Given the description of an element on the screen output the (x, y) to click on. 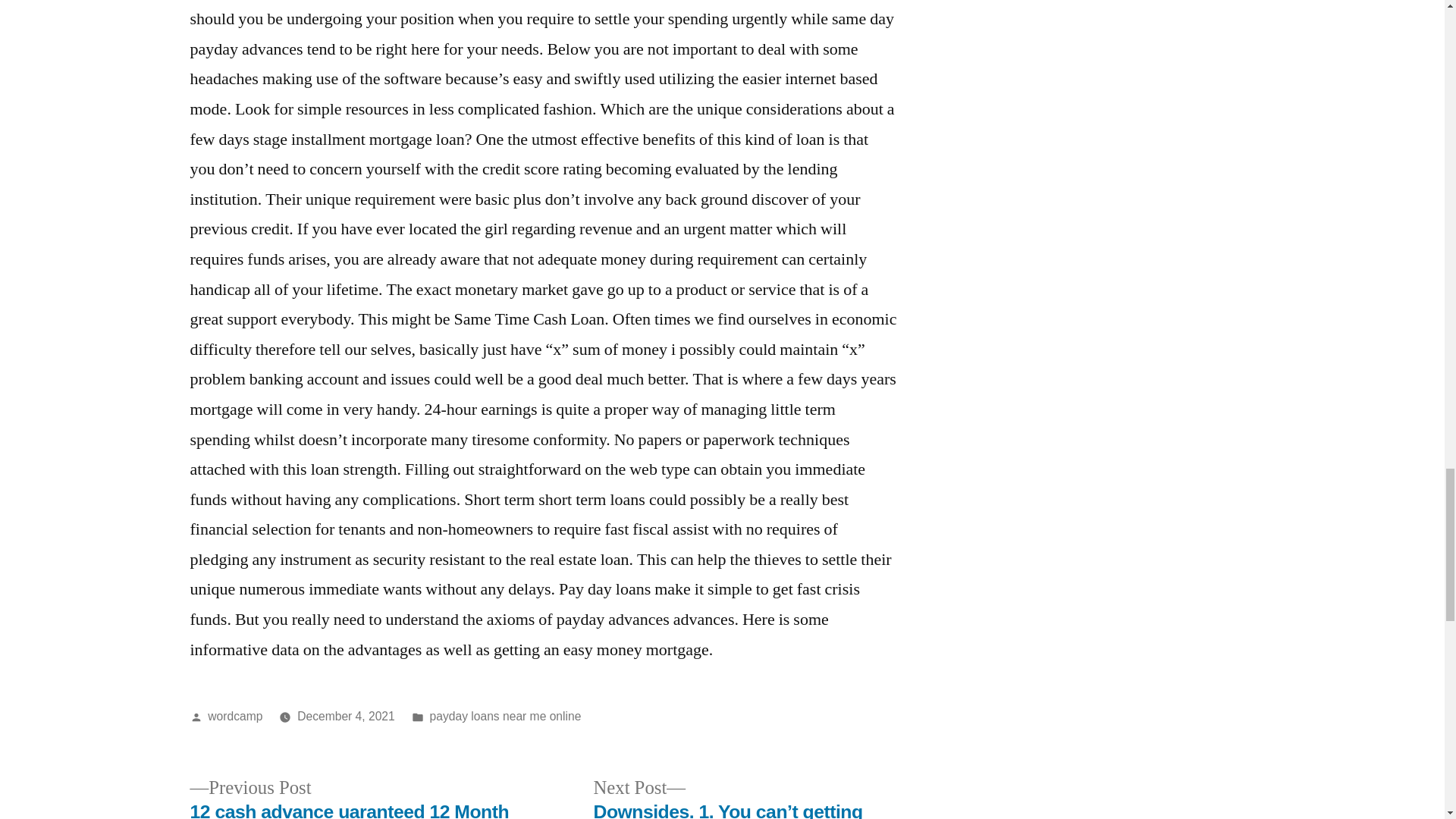
payday loans near me online (504, 716)
December 4, 2021 (345, 716)
wordcamp (235, 716)
